Given the description of an element on the screen output the (x, y) to click on. 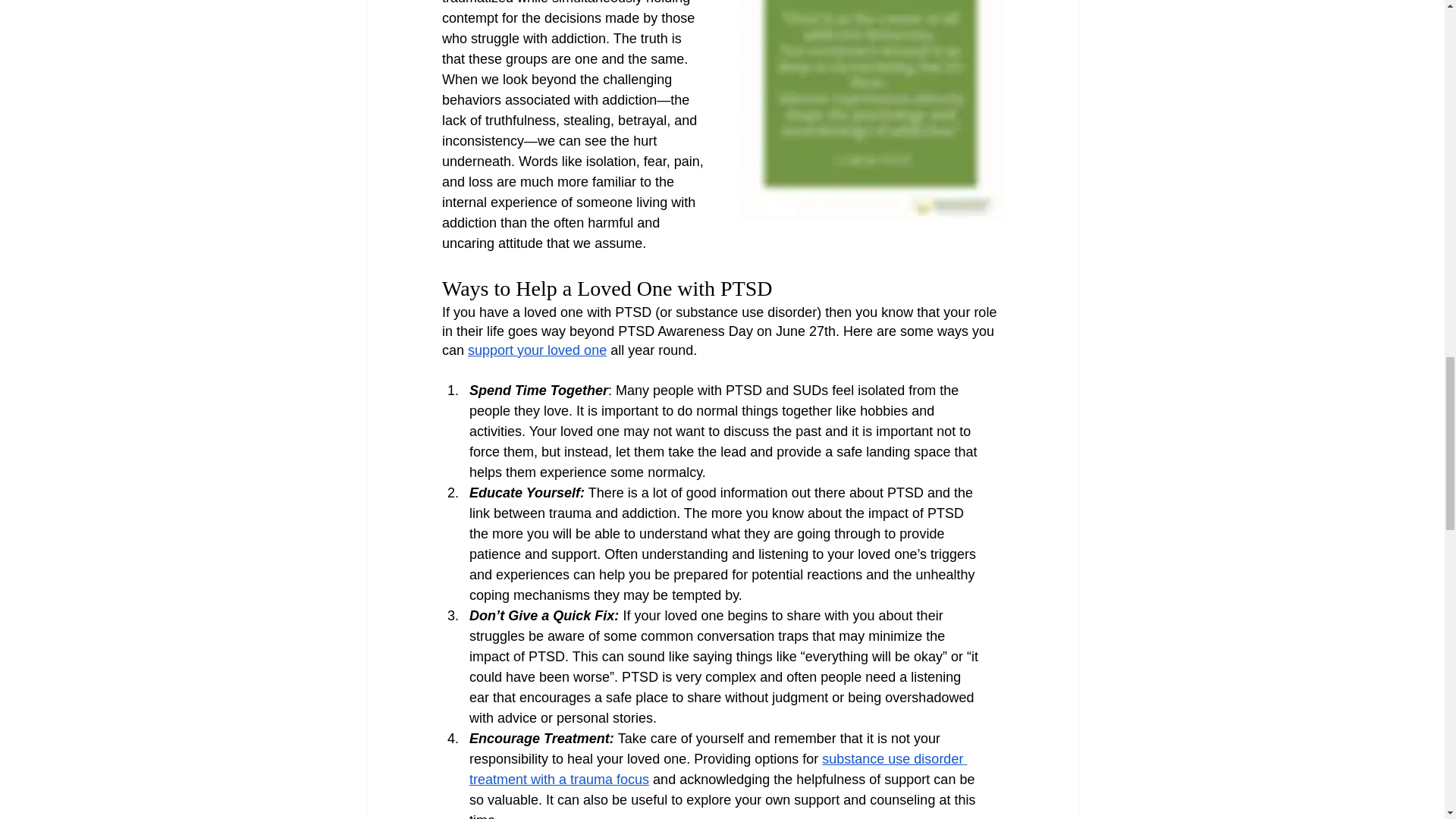
substance use disorder treatment with a trauma focus (717, 769)
support your loved one (537, 350)
